Given the description of an element on the screen output the (x, y) to click on. 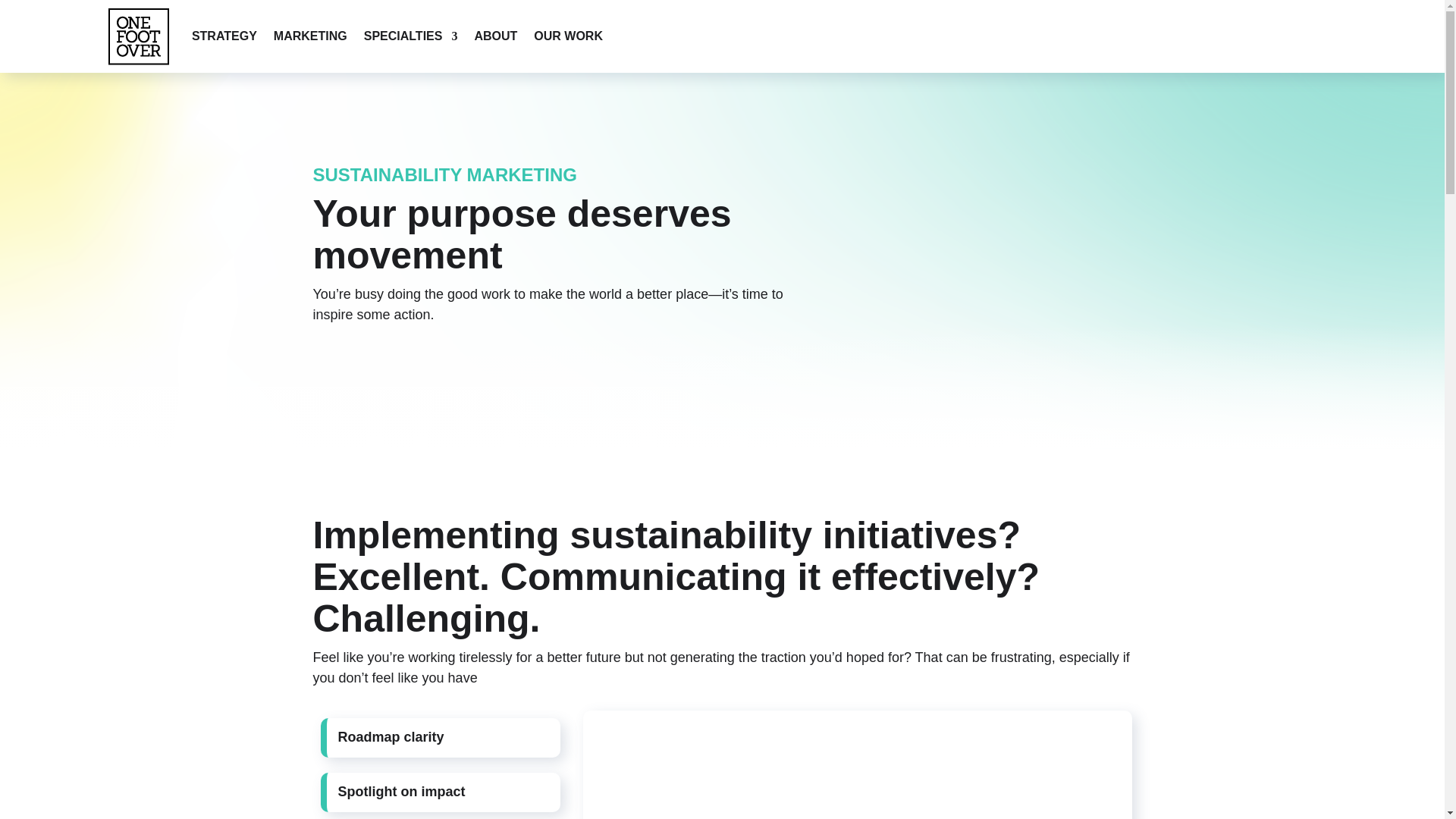
STRATEGY (224, 36)
SPECIALTIES (411, 36)
MARKETING (310, 36)
OUR WORK (568, 36)
